Given the description of an element on the screen output the (x, y) to click on. 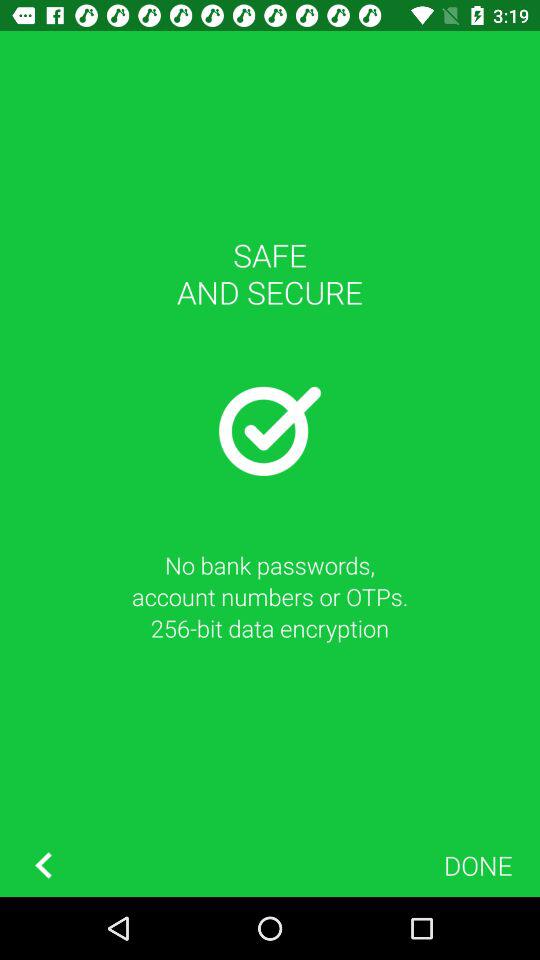
turn off the done at the bottom right corner (478, 864)
